Given the description of an element on the screen output the (x, y) to click on. 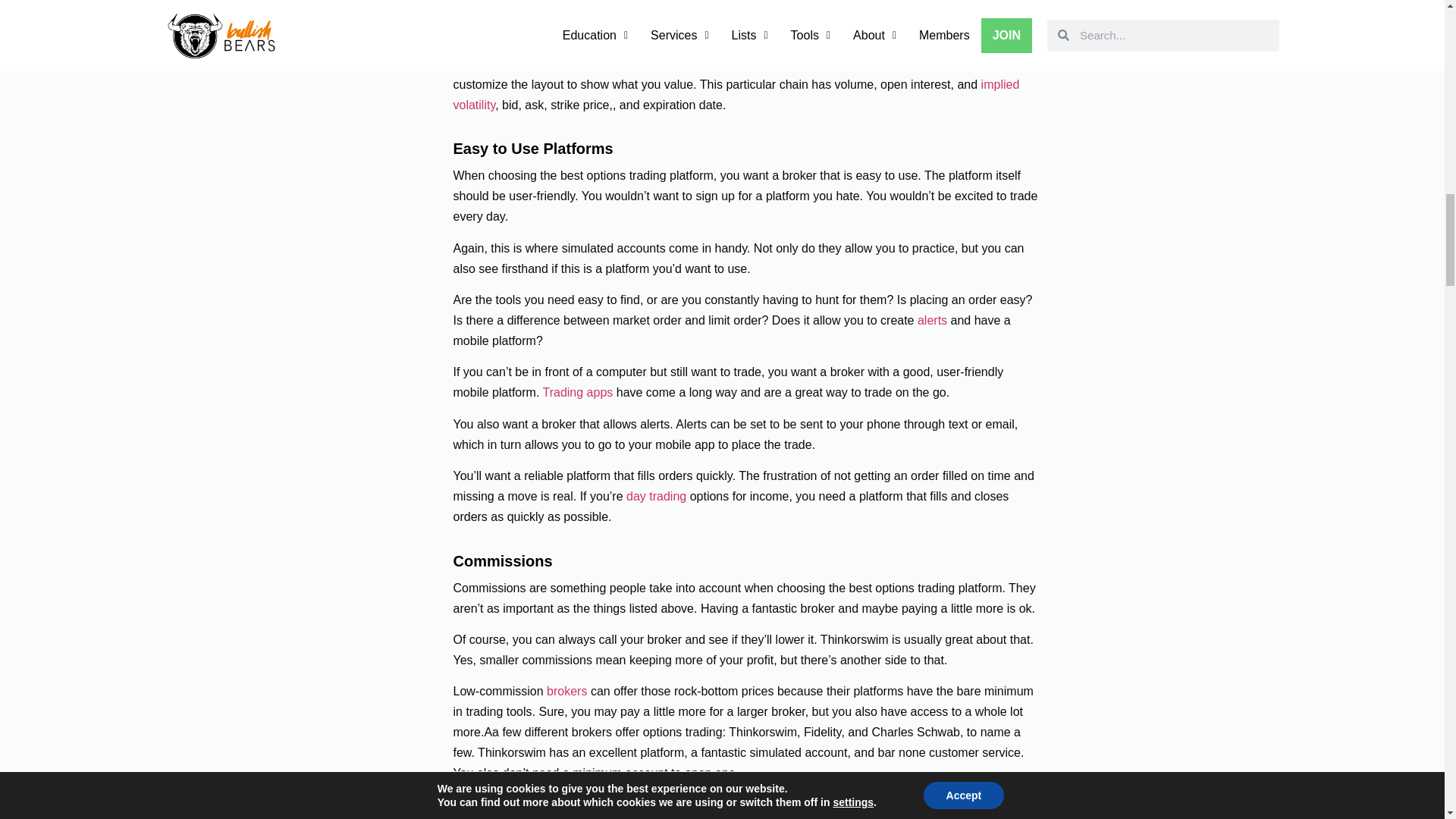
brokers (566, 690)
alerts (932, 319)
Trading apps (576, 391)
implied volatility (736, 94)
Thinkorswim (534, 63)
day trading (655, 495)
